Given the description of an element on the screen output the (x, y) to click on. 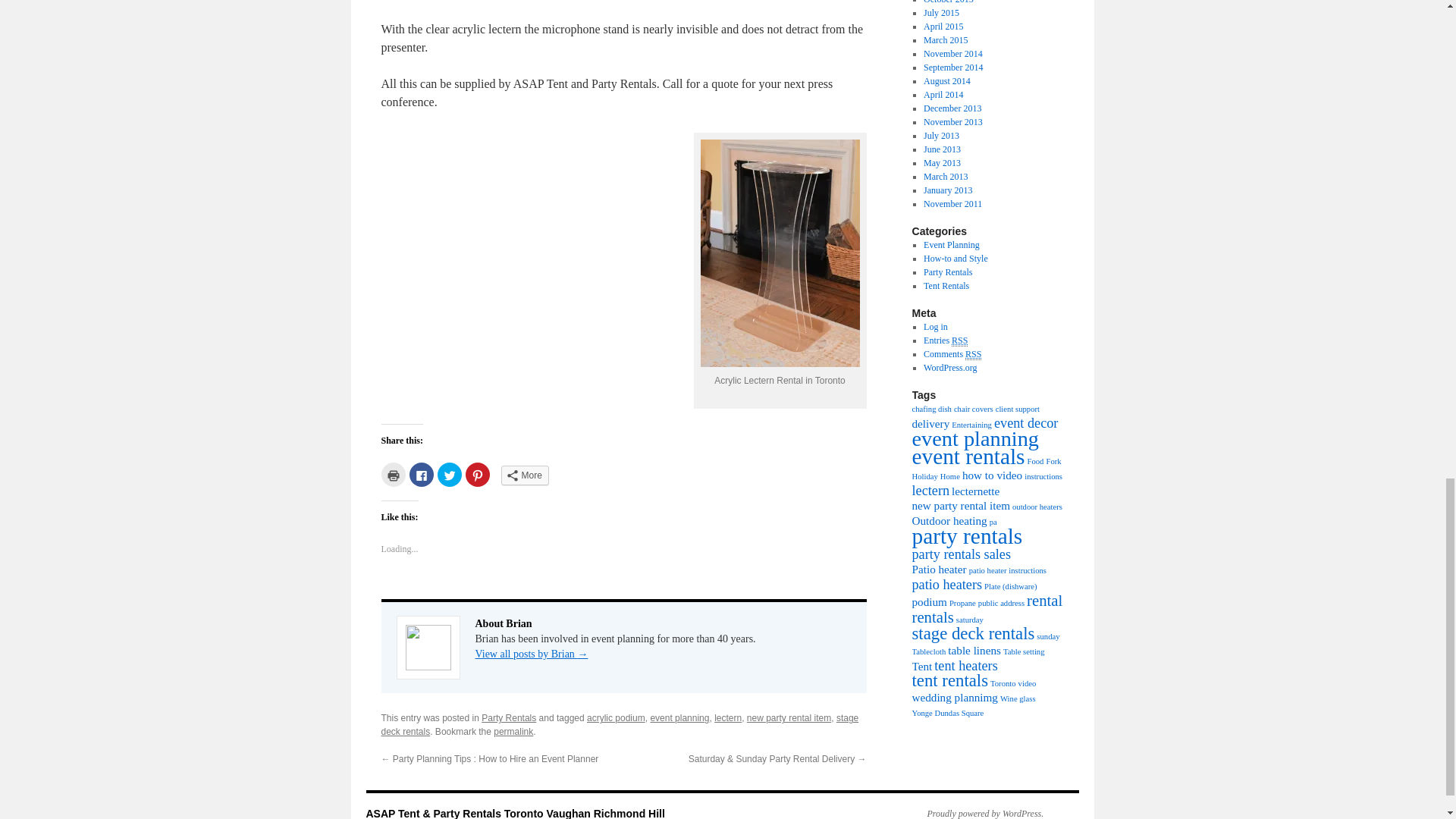
Party Rentals (508, 717)
Click to share on Twitter (448, 474)
lectern (727, 717)
event planning (679, 717)
acrylic podium (615, 717)
Click to share on Facebook (421, 474)
Click to print (392, 474)
More (524, 475)
new party rental item (788, 717)
